Given the description of an element on the screen output the (x, y) to click on. 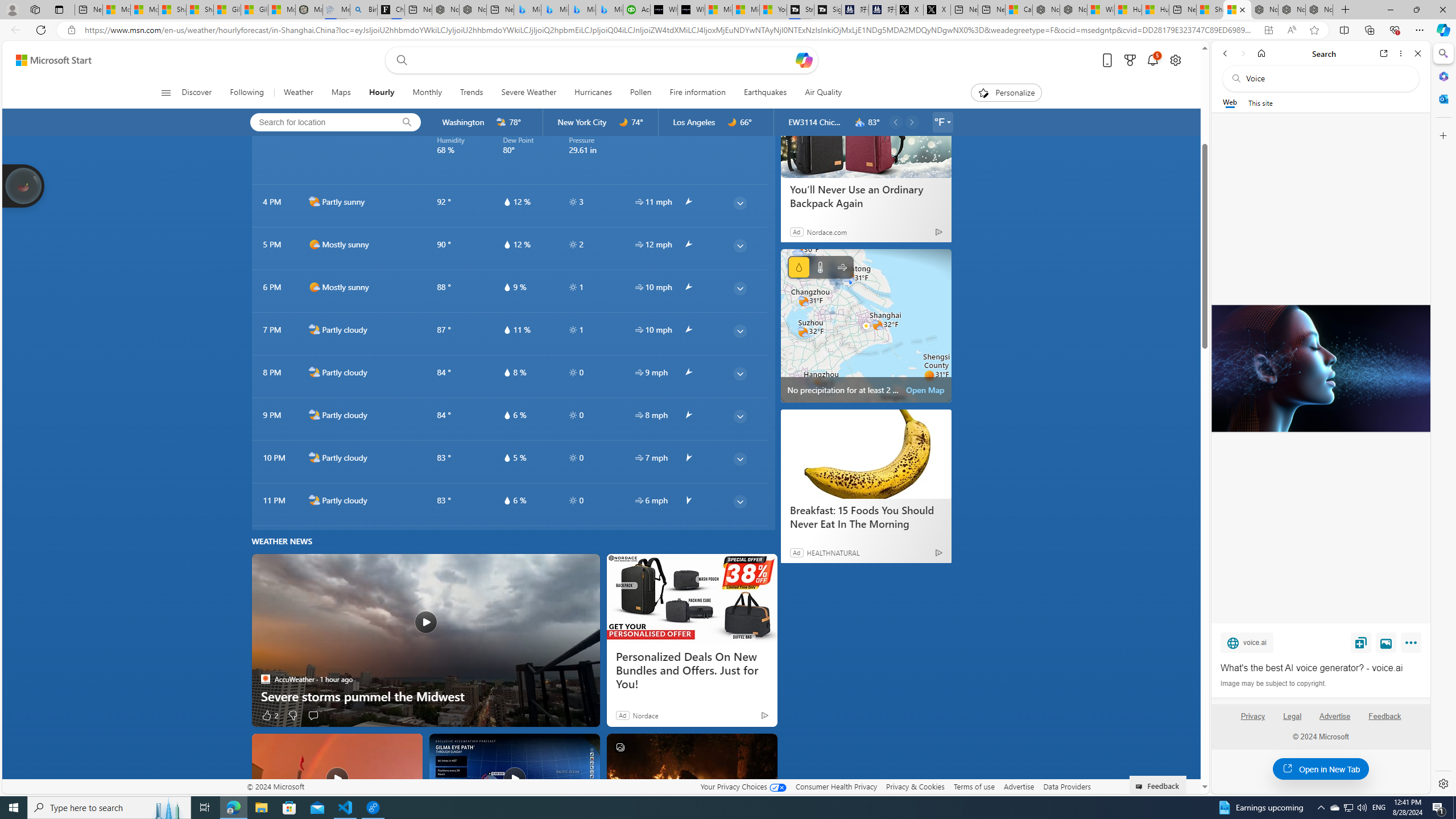
Breakfast: 15 Foods You Should Never Eat In The Morning (865, 516)
common/thinArrow (739, 501)
Join us in planting real trees to help our planet! (23, 184)
n2000 (314, 500)
voice.ai (1247, 642)
